Given the description of an element on the screen output the (x, y) to click on. 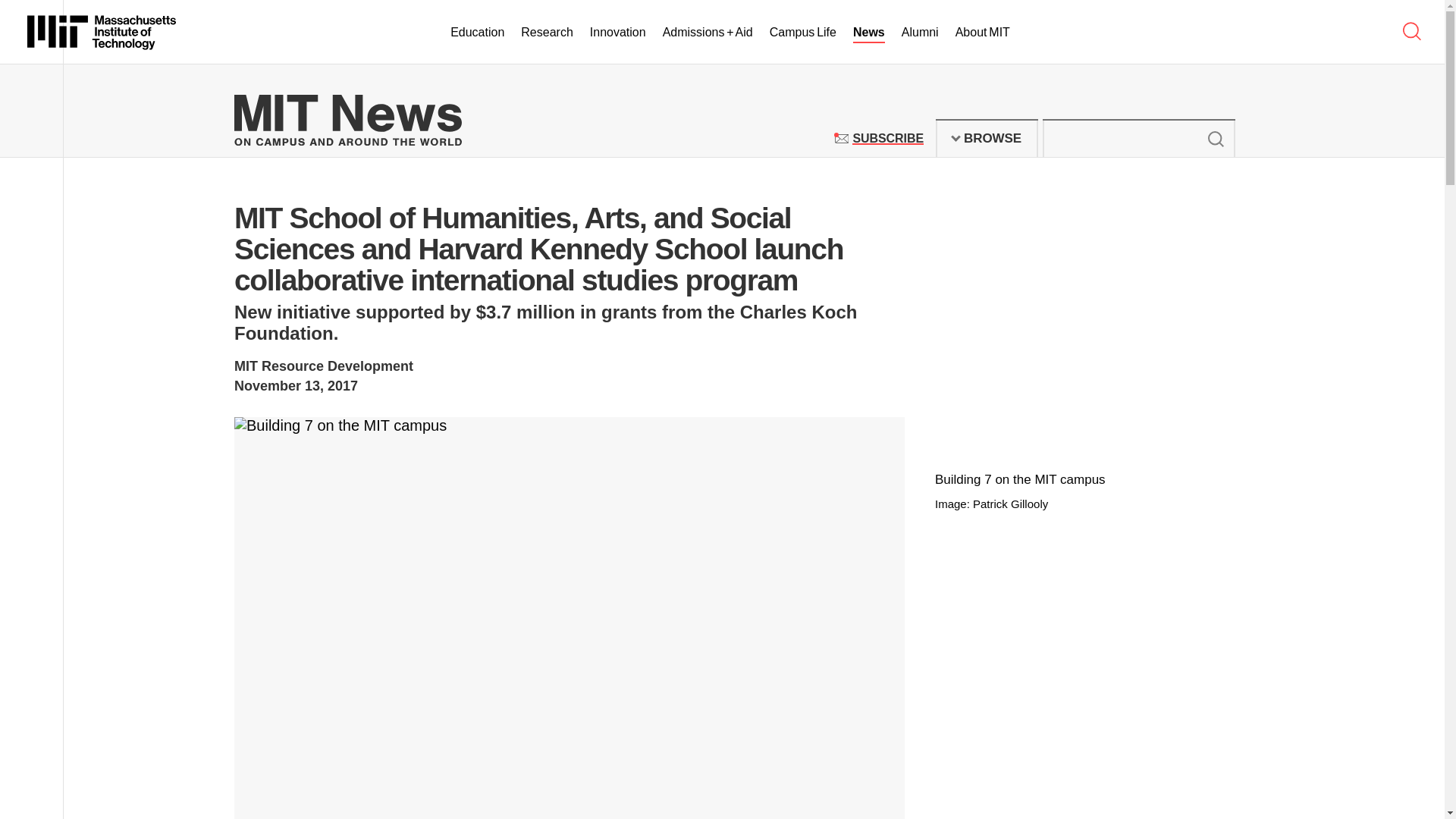
Campus Life (887, 137)
Massachusetts Institute of Technology (802, 32)
BROWSE (101, 32)
Submit (987, 138)
